Given the description of an element on the screen output the (x, y) to click on. 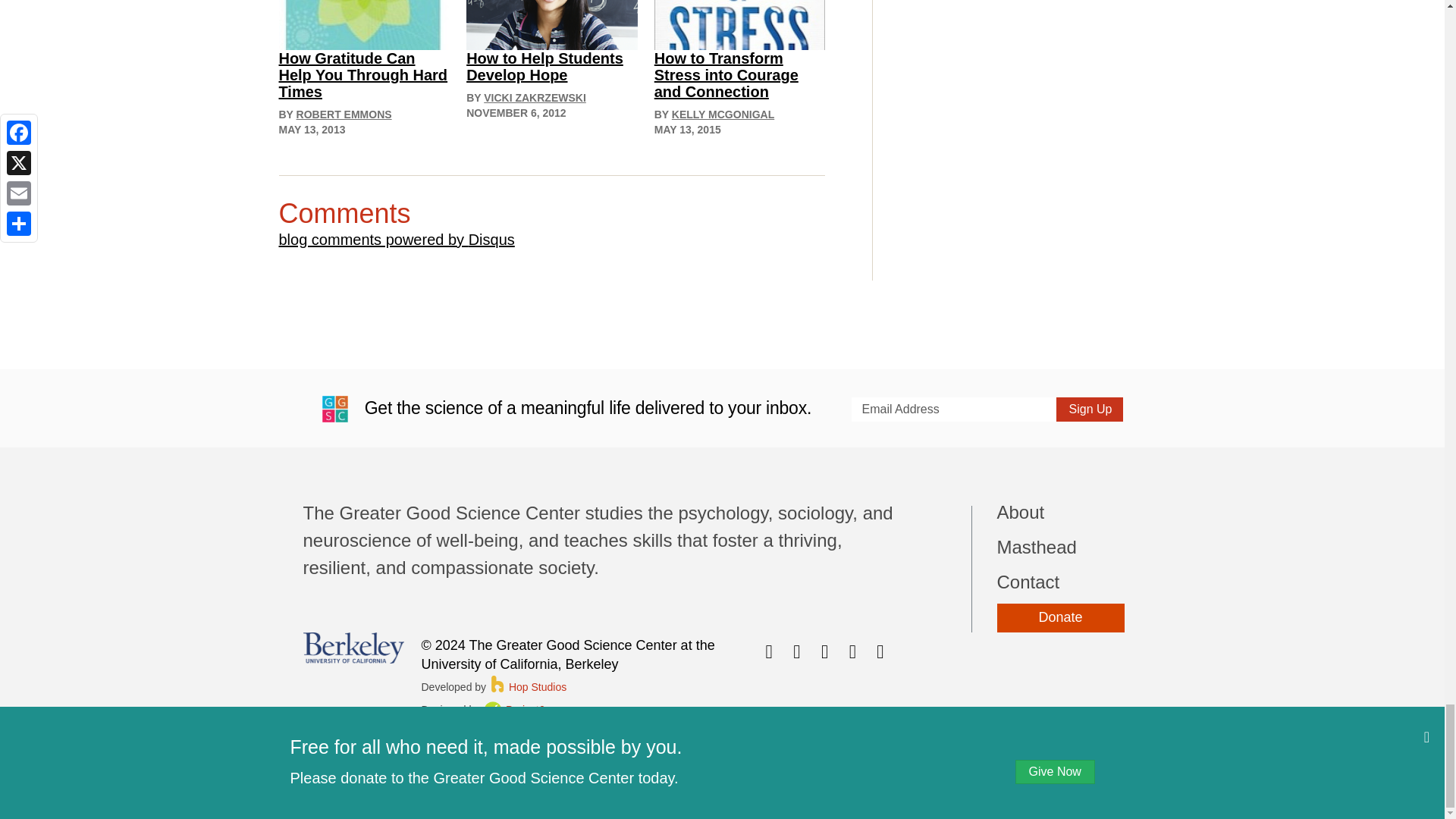
Sign Up (1088, 409)
